Given the description of an element on the screen output the (x, y) to click on. 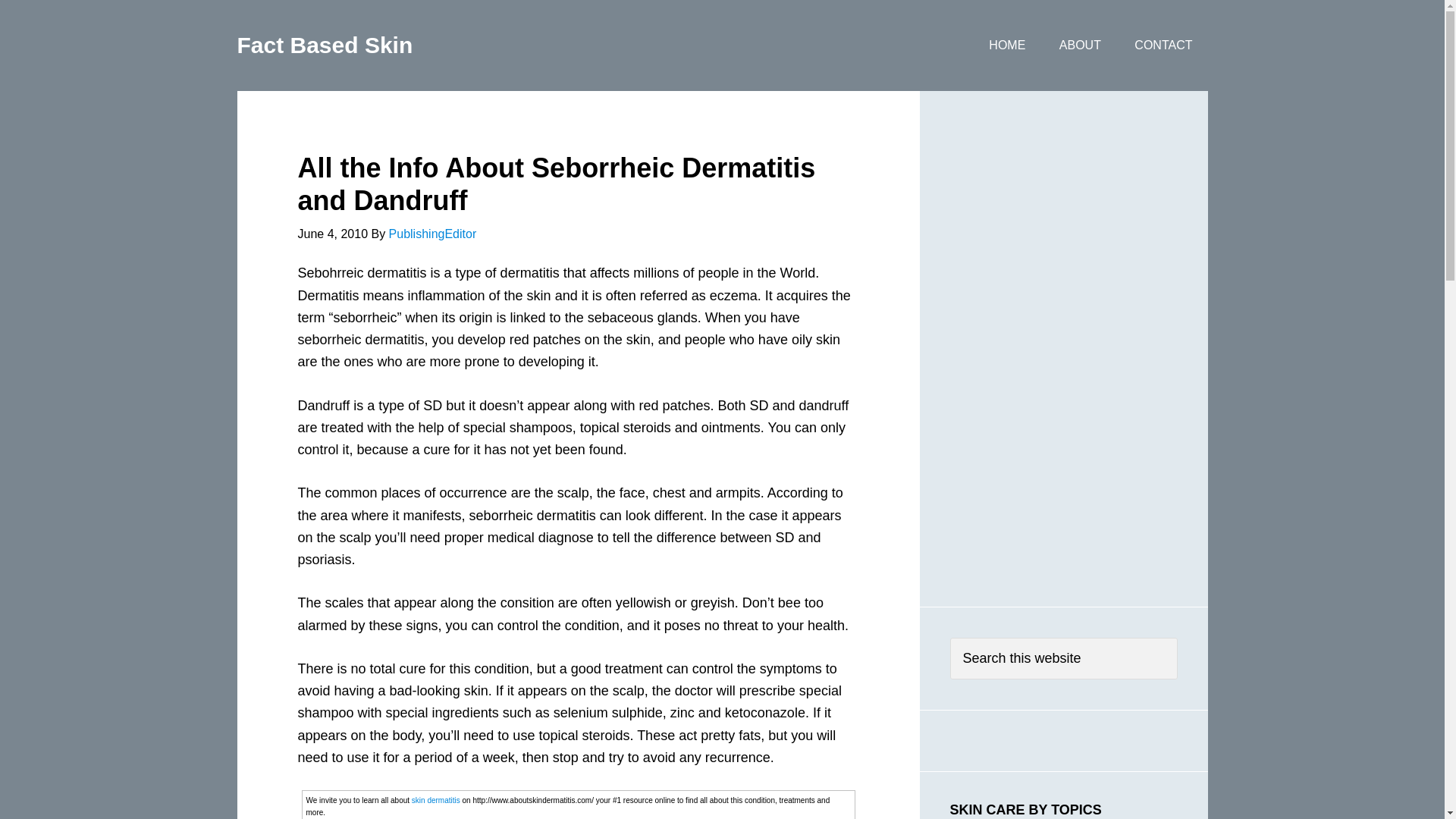
Fact Based Skin (323, 44)
CONTACT (1163, 45)
PublishingEditor (432, 233)
skin dermatitis (436, 800)
All the Info About Seborrheic Dermatitis and Dandruff (556, 184)
